Given the description of an element on the screen output the (x, y) to click on. 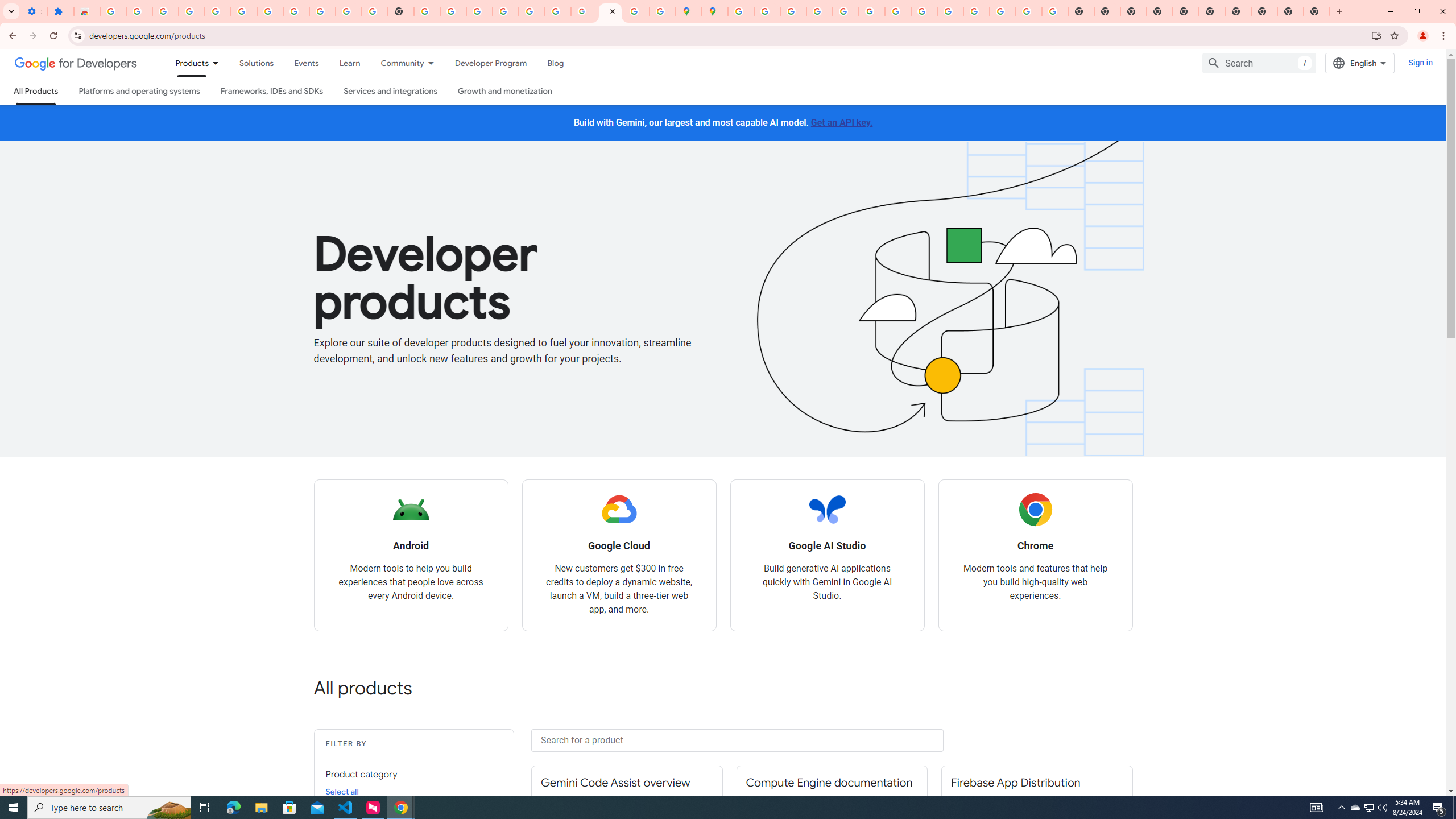
products hero img (930, 298)
Google Cloud logo (618, 509)
Community (396, 62)
Learning Catalog (350, 62)
Google for Developers (75, 63)
Platforms and operating systems (139, 90)
Install Google Developers (1376, 35)
